Given the description of an element on the screen output the (x, y) to click on. 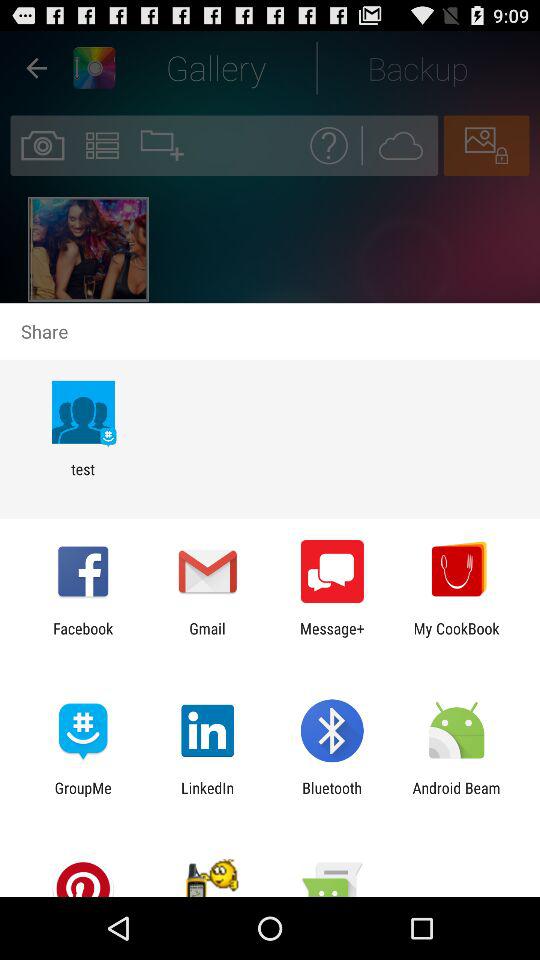
press the facebook icon (83, 637)
